Given the description of an element on the screen output the (x, y) to click on. 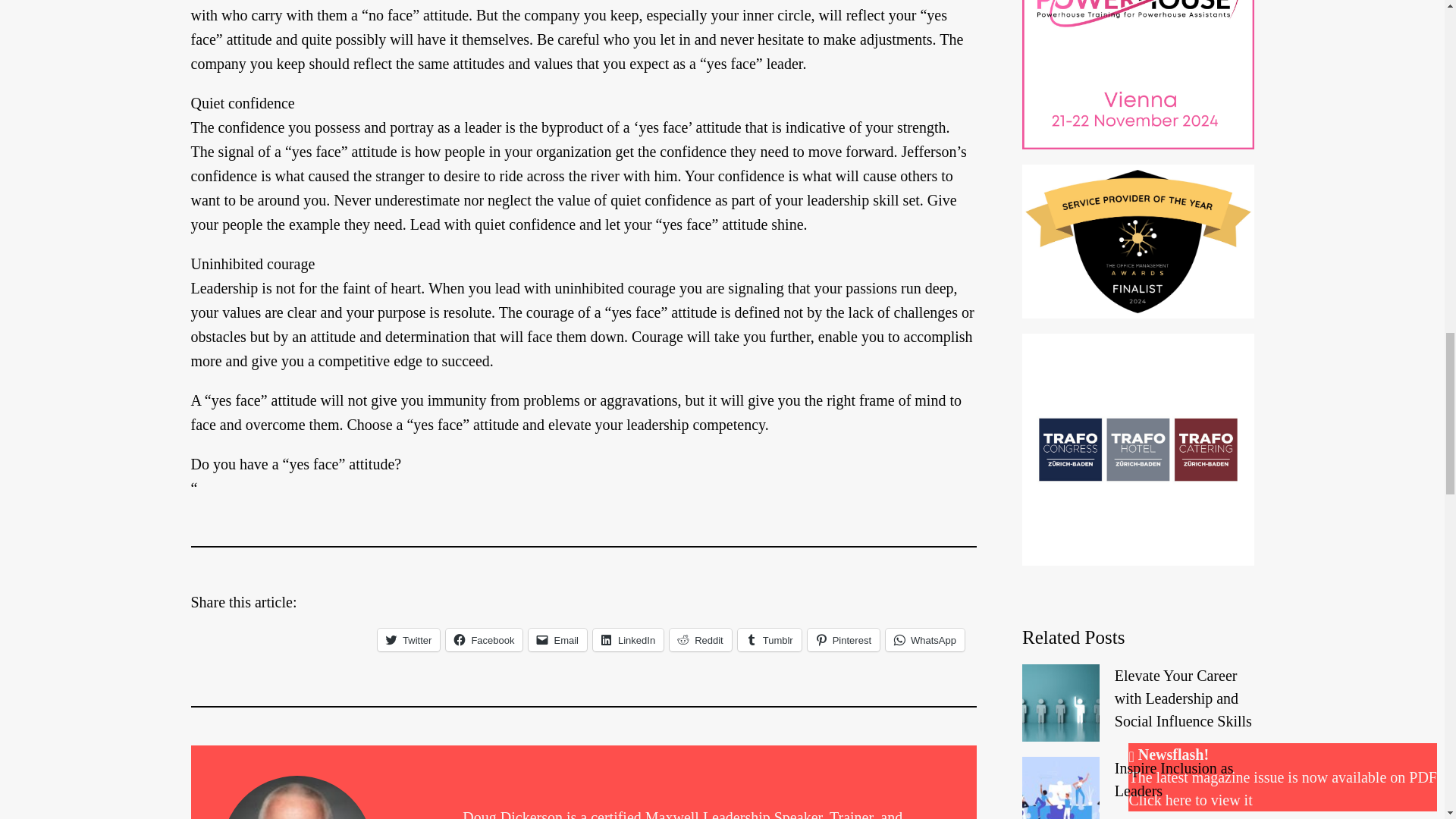
Click to share on WhatsApp (924, 639)
Click to share on Tumblr (770, 639)
Click to share on Reddit (700, 639)
Click to share on Pinterest (843, 639)
Click to share on Twitter (408, 639)
Click to email a link to a friend (557, 639)
Click to share on Facebook (483, 639)
Click to share on LinkedIn (627, 639)
